Given the description of an element on the screen output the (x, y) to click on. 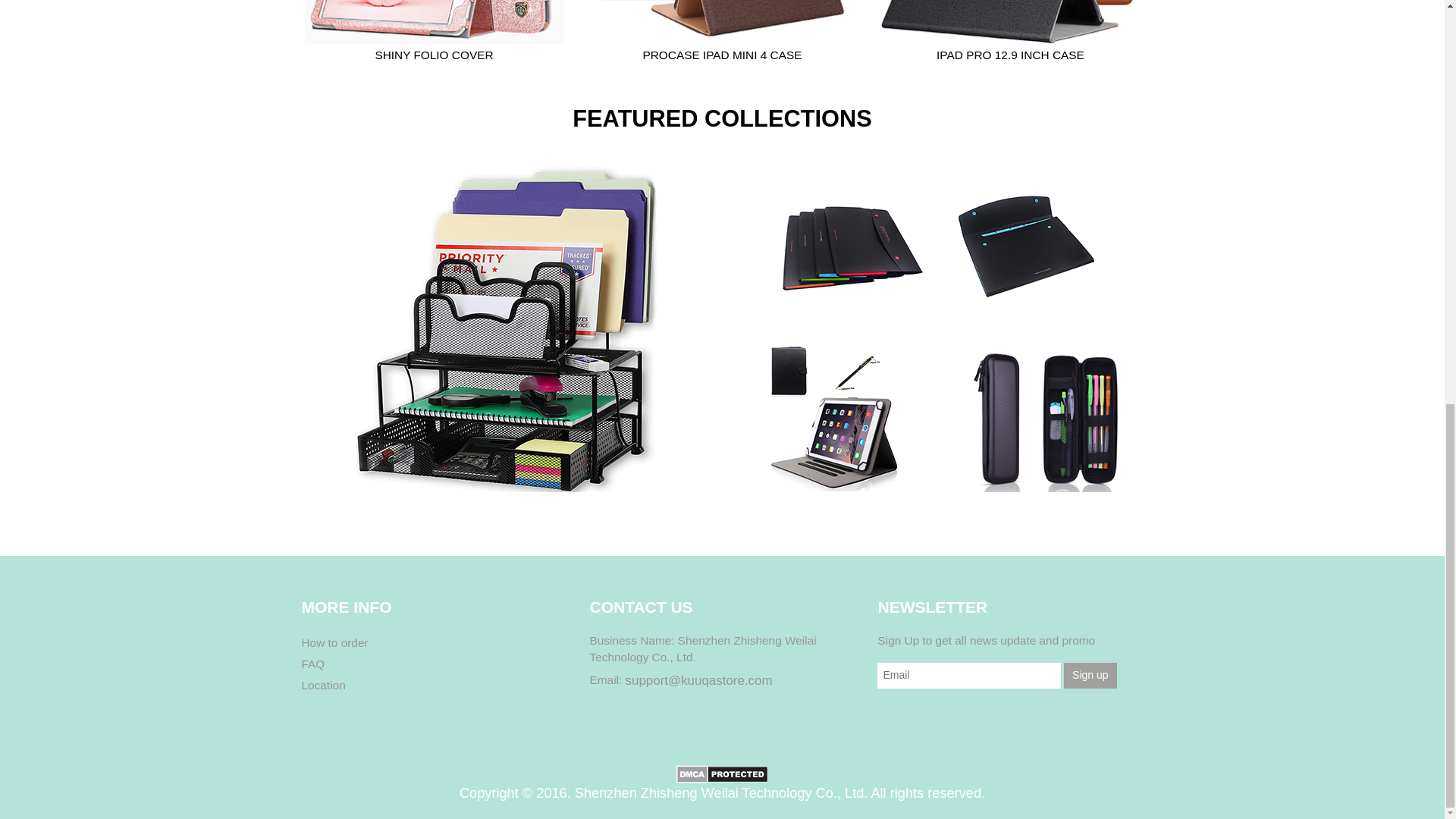
DMCA.com Protection Status (722, 772)
How to order (334, 642)
Sign up (1090, 675)
PROCASE IPAD MINI 4 CASE (722, 54)
IPAD PRO 12.9 INCH CASE (1010, 54)
Sign up (1090, 675)
SHINY FOLIO COVER (433, 54)
Location (323, 685)
FAQ (312, 664)
